Given the description of an element on the screen output the (x, y) to click on. 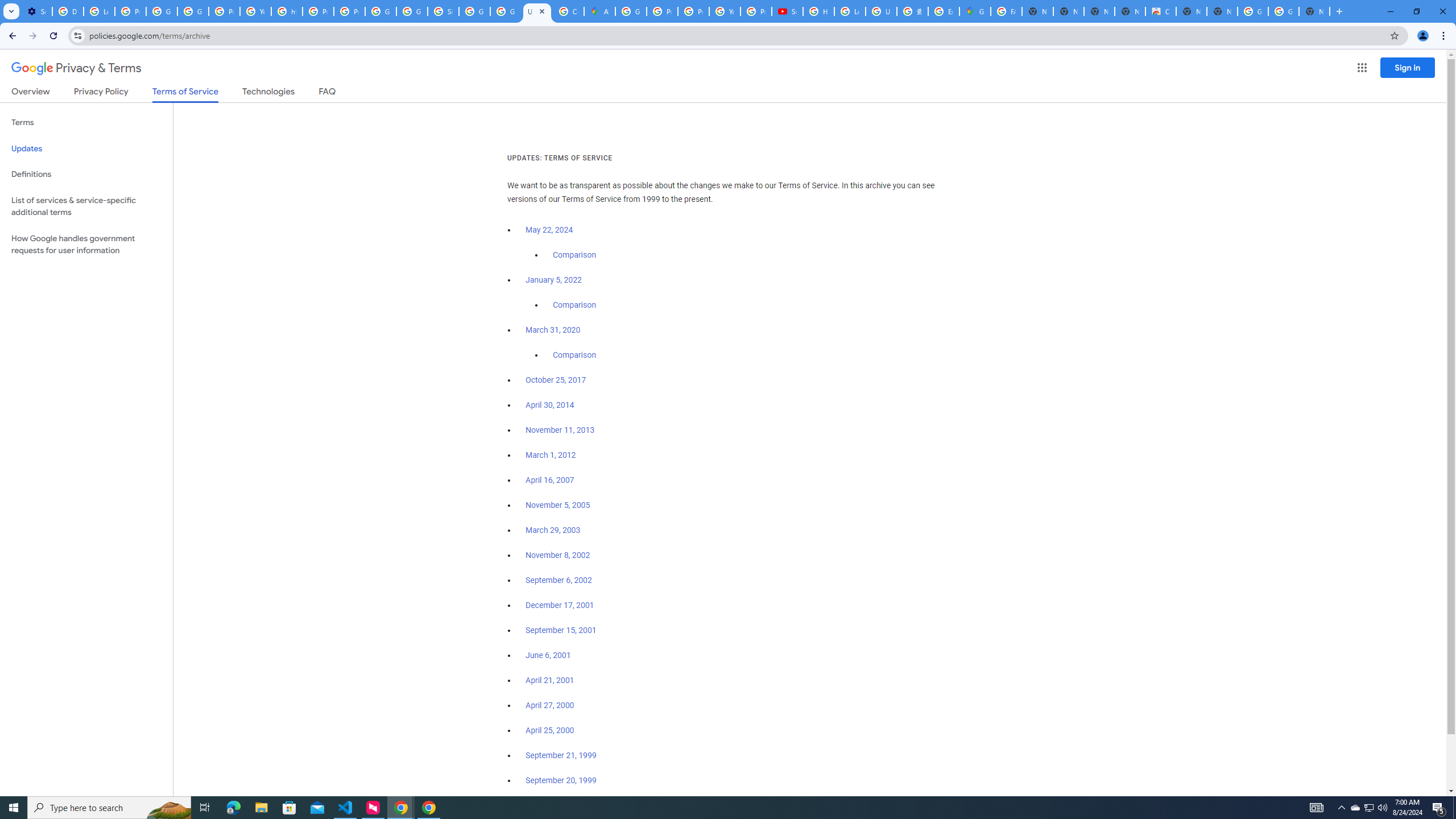
May 22, 2024 (549, 230)
November 5, 2005 (557, 505)
Privacy Policy (100, 93)
Terms (86, 122)
April 27, 2000 (550, 705)
October 25, 2017 (555, 380)
https://scholar.google.com/ (286, 11)
